Given the description of an element on the screen output the (x, y) to click on. 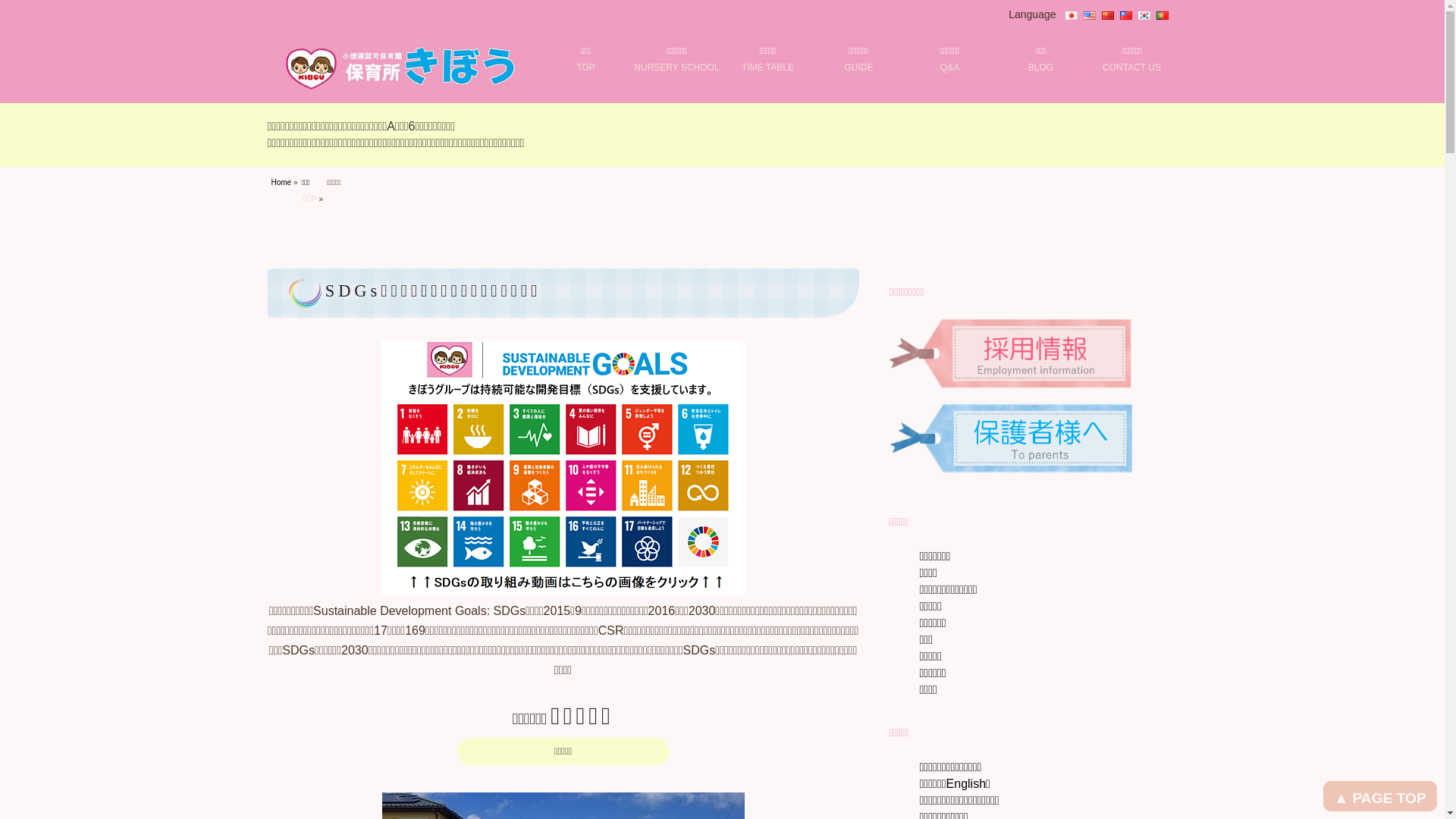
Home Element type: text (281, 182)
English Element type: hover (1088, 14)
Portugues Element type: hover (1161, 14)
